Given the description of an element on the screen output the (x, y) to click on. 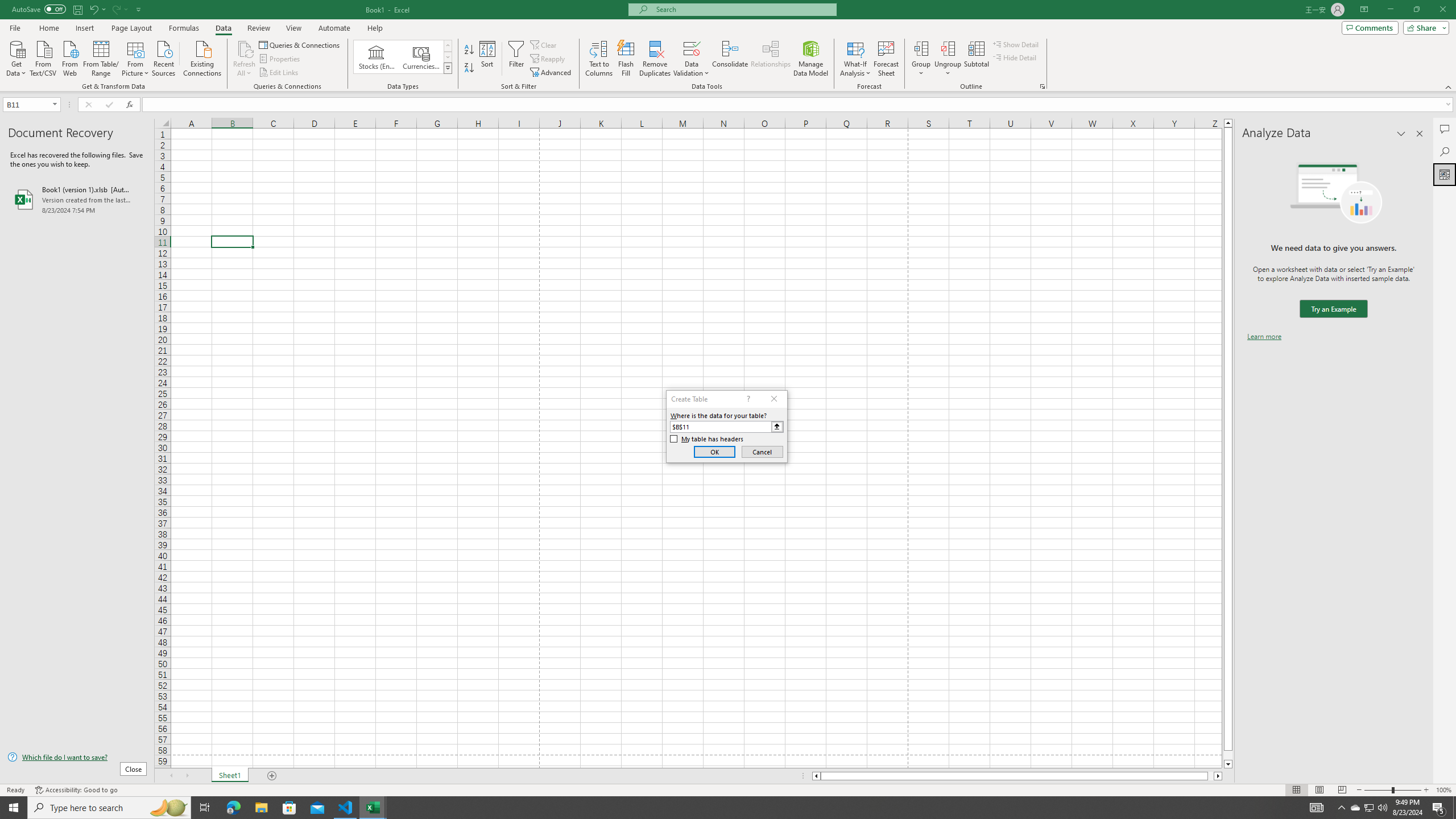
Sort... (487, 58)
AutomationID: ConvertToLinkedEntity (403, 56)
Properties (280, 58)
What-If Analysis (855, 58)
Edit Links (279, 72)
Subtotal (976, 58)
Filter (515, 58)
